Given the description of an element on the screen output the (x, y) to click on. 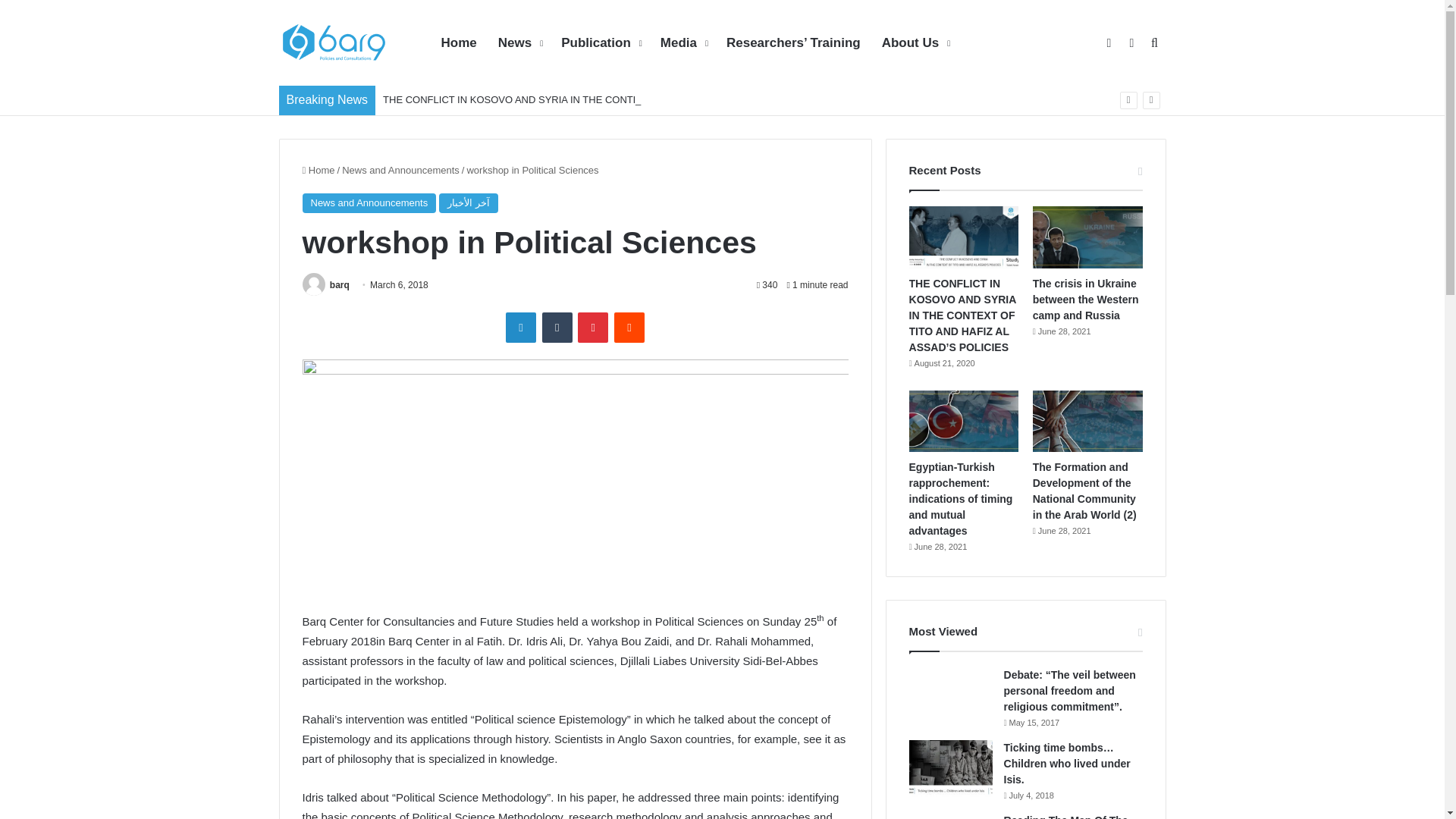
Pinterest (593, 327)
LinkedIn (520, 327)
barq (339, 285)
Pinterest (593, 327)
LinkedIn (520, 327)
Publication (599, 42)
Tumblr (556, 327)
Reddit (629, 327)
News and Announcements (401, 170)
Reddit (629, 327)
News and Announcements (368, 202)
Home (317, 170)
BARQ For Policies and Consultations (336, 42)
barq (339, 285)
About Us (914, 42)
